Given the description of an element on the screen output the (x, y) to click on. 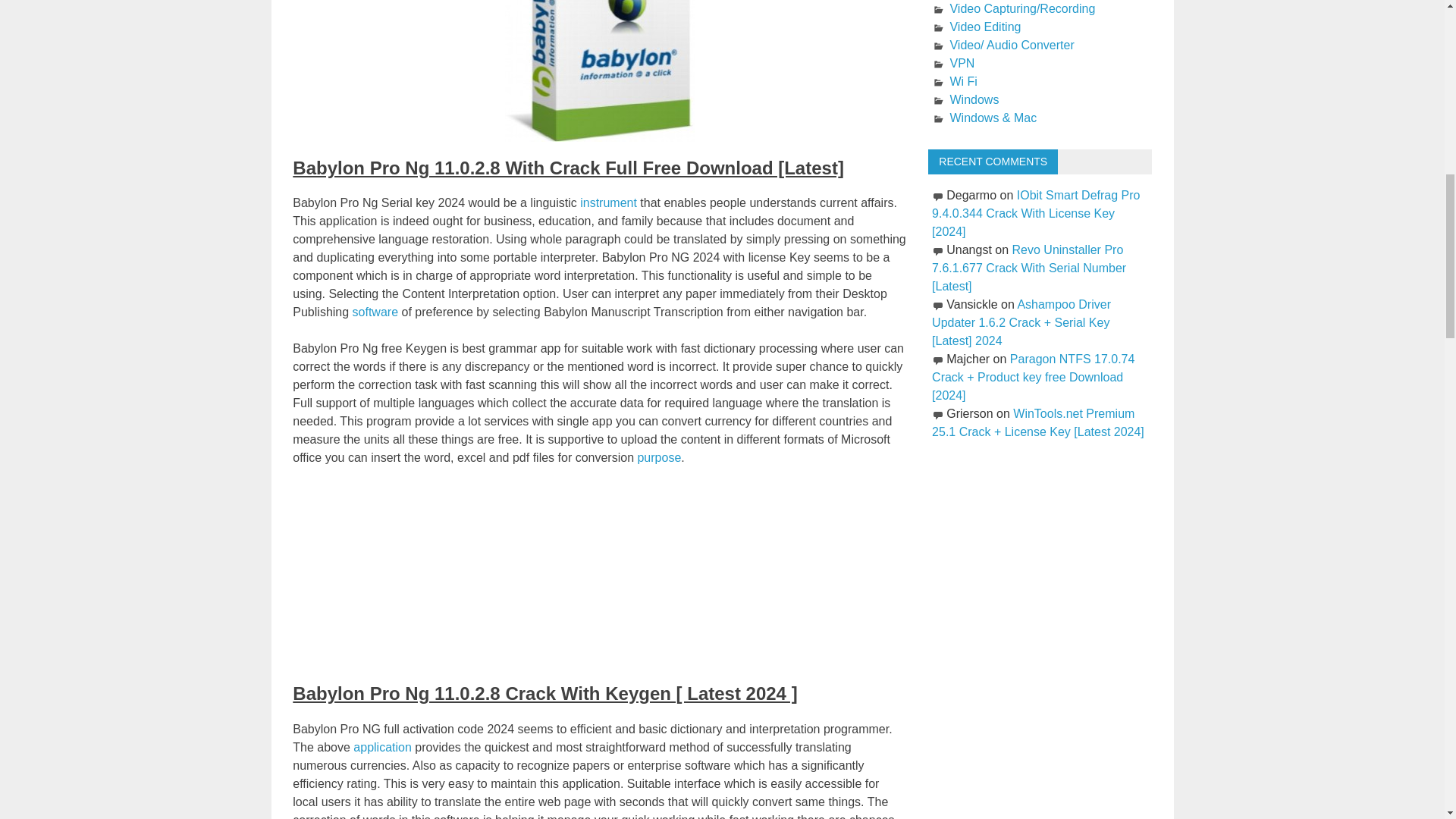
application (382, 747)
software (374, 311)
purpose (659, 457)
instrument (608, 202)
